Given the description of an element on the screen output the (x, y) to click on. 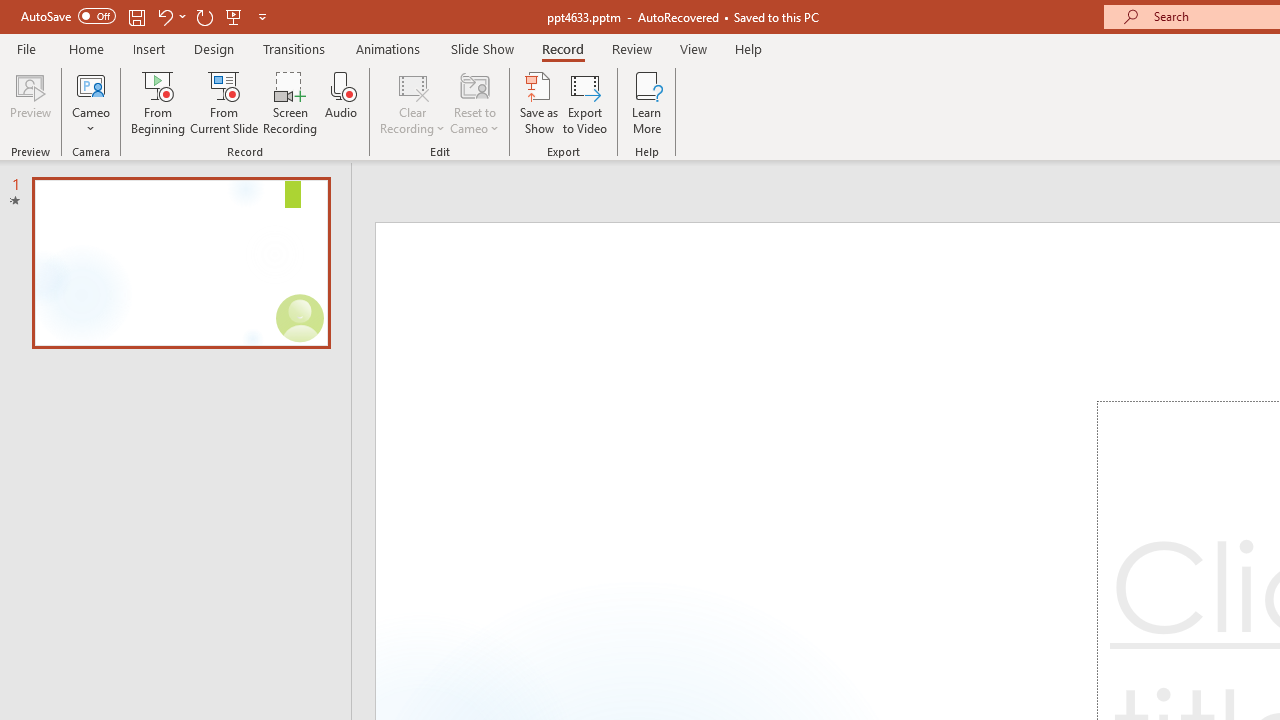
Learn More (646, 102)
From Beginning... (158, 102)
